Given the description of an element on the screen output the (x, y) to click on. 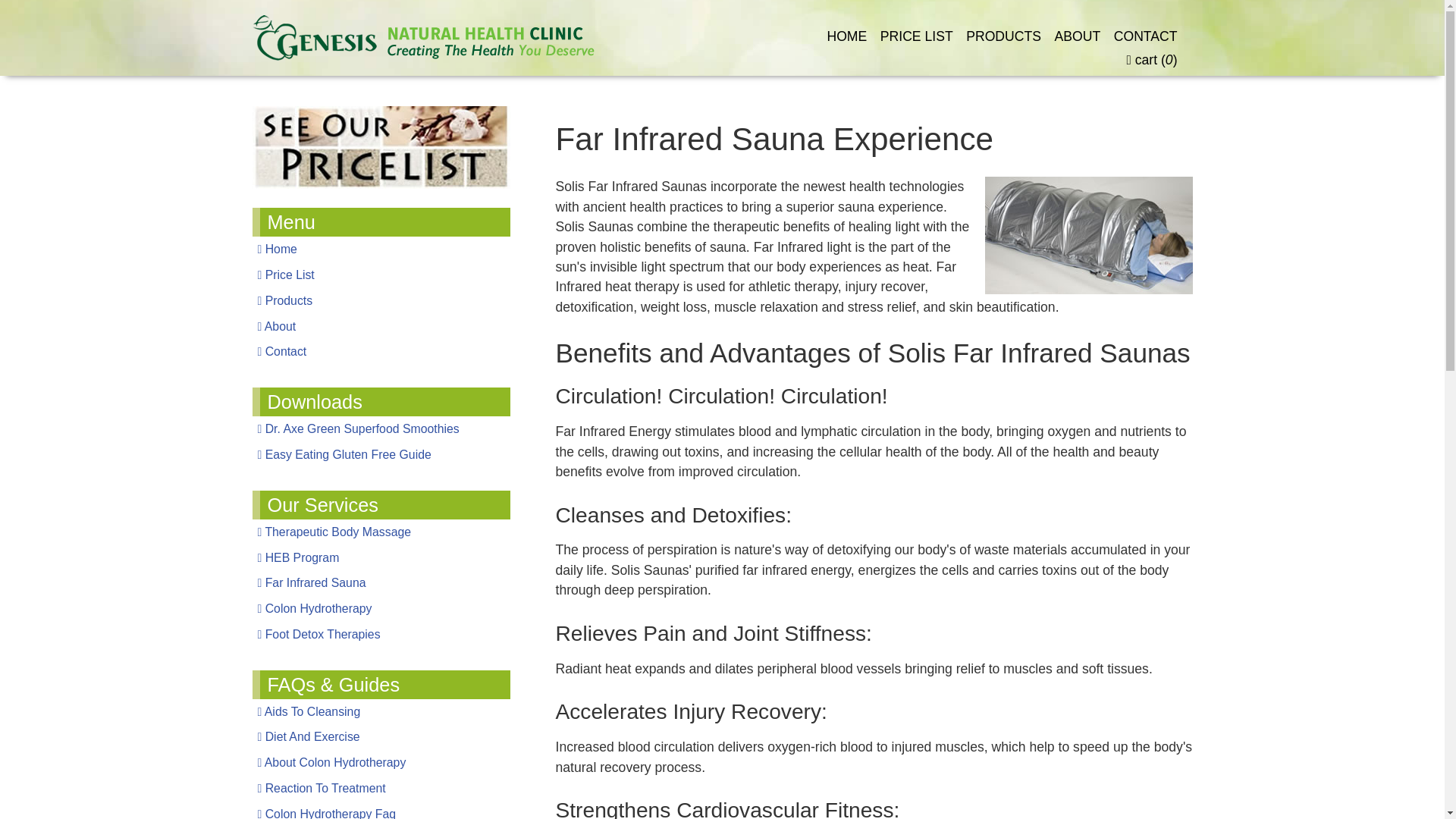
Price List (380, 275)
Contact Genesis Natural Health Clinic (1145, 36)
Reaction To Treatment (380, 788)
Therapeutic Body Massage (380, 532)
Colon Hydrotherapy Faq (380, 810)
Home Page (380, 249)
Easy Eating Gluten Free Guide (380, 454)
Contact Genesis Natural Health Clinic (380, 351)
View Cart (1150, 59)
Genesis Natural Health Clinic (422, 22)
Green Superfood Smoothies (380, 429)
foot-detox-therapies (380, 634)
About (380, 326)
HEB-program (380, 557)
PRICE LIST (916, 36)
